Given the description of an element on the screen output the (x, y) to click on. 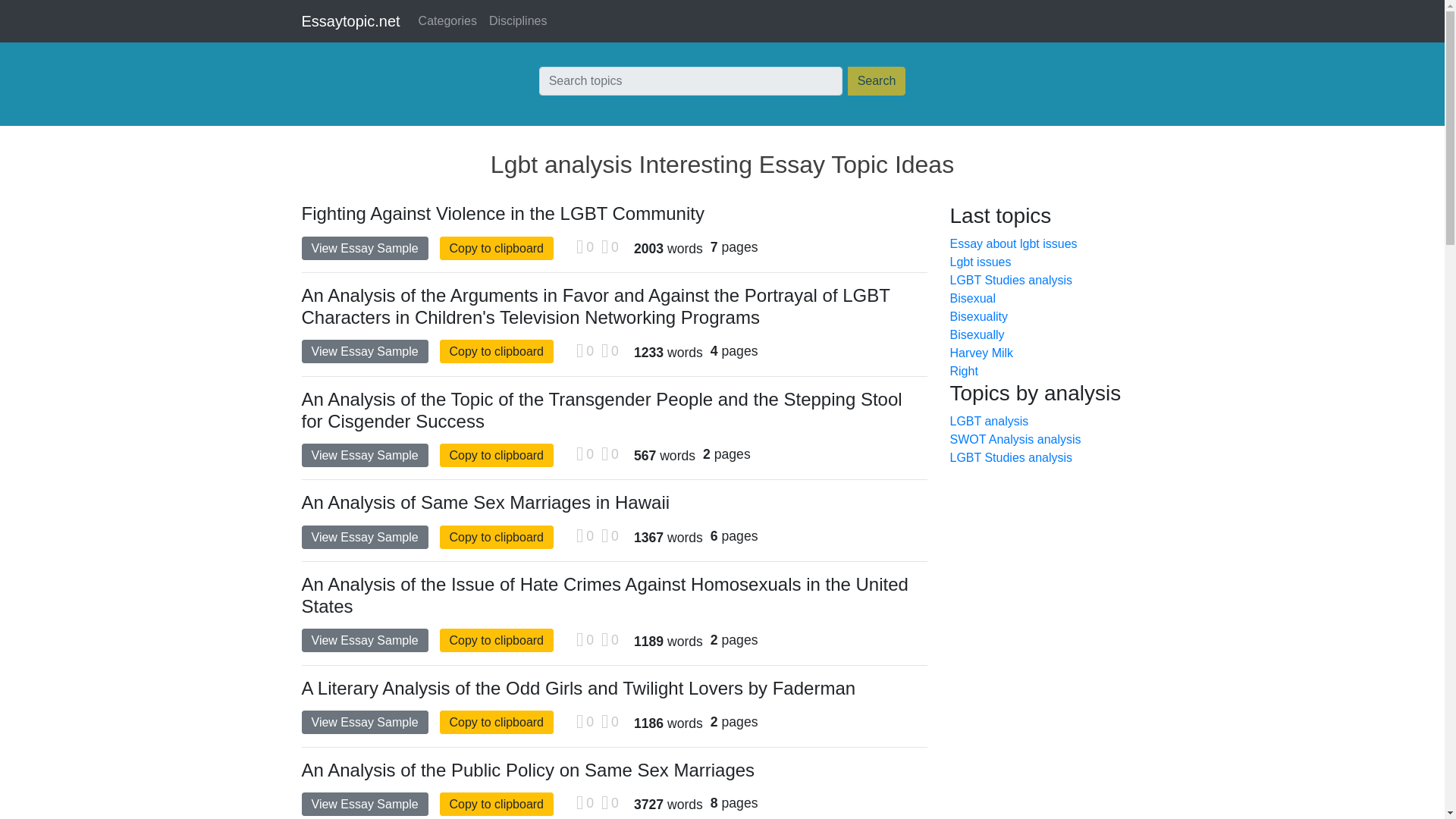
Copy to clipboard (496, 351)
Copy to clipboard (496, 803)
Categories (447, 20)
View Essay Sample (364, 351)
Copy to clipboard (496, 536)
Essaytopic.net (350, 20)
View Essay Sample (364, 454)
Search (876, 80)
View Essay Sample (364, 248)
View Essay Sample (364, 536)
